Given the description of an element on the screen output the (x, y) to click on. 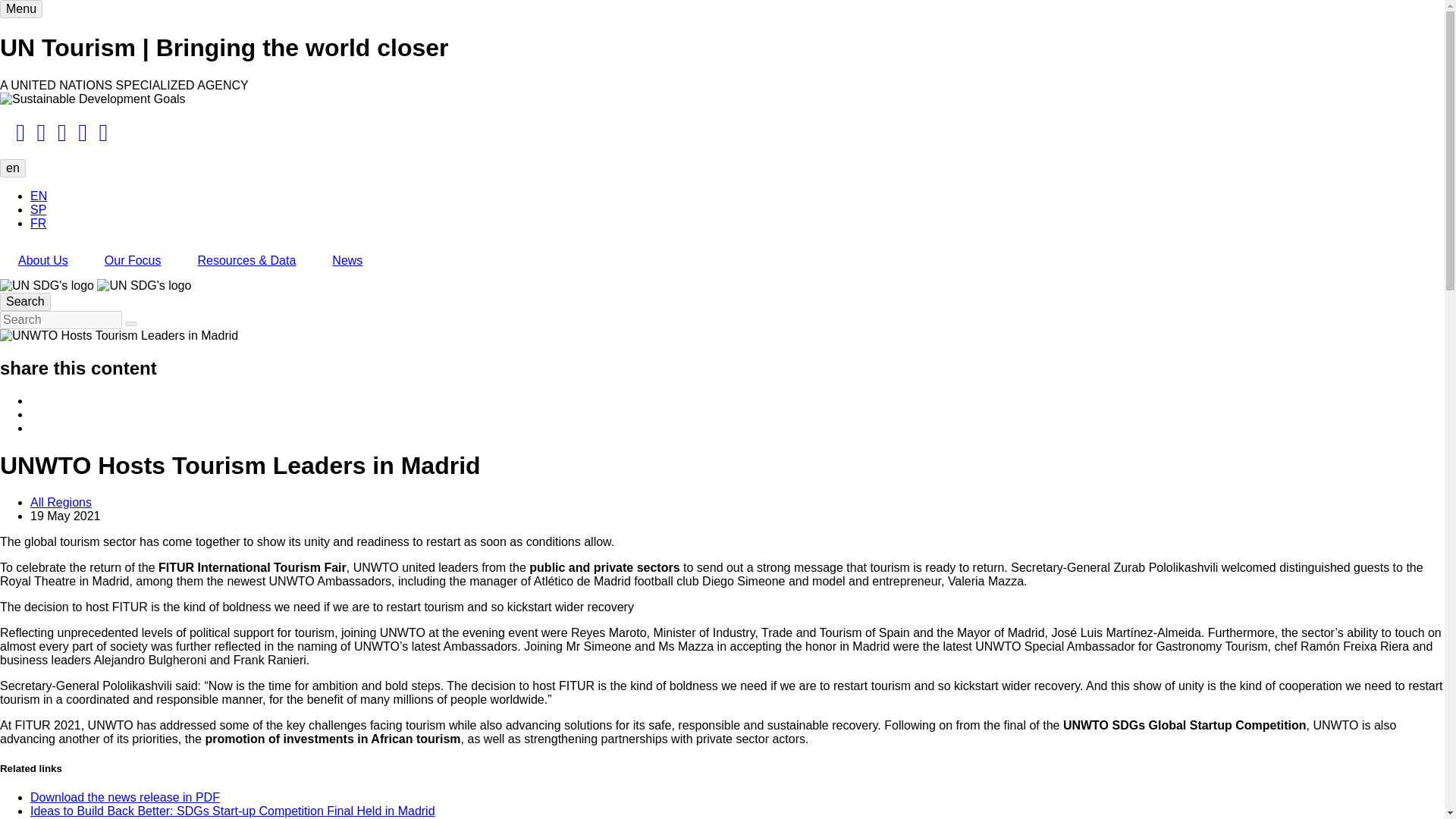
About Us (42, 260)
SP (38, 209)
en (13, 167)
EN (38, 195)
Enter the terms you wish to search for. (61, 320)
Our Focus (132, 260)
Menu (21, 9)
FR (38, 223)
